Given the description of an element on the screen output the (x, y) to click on. 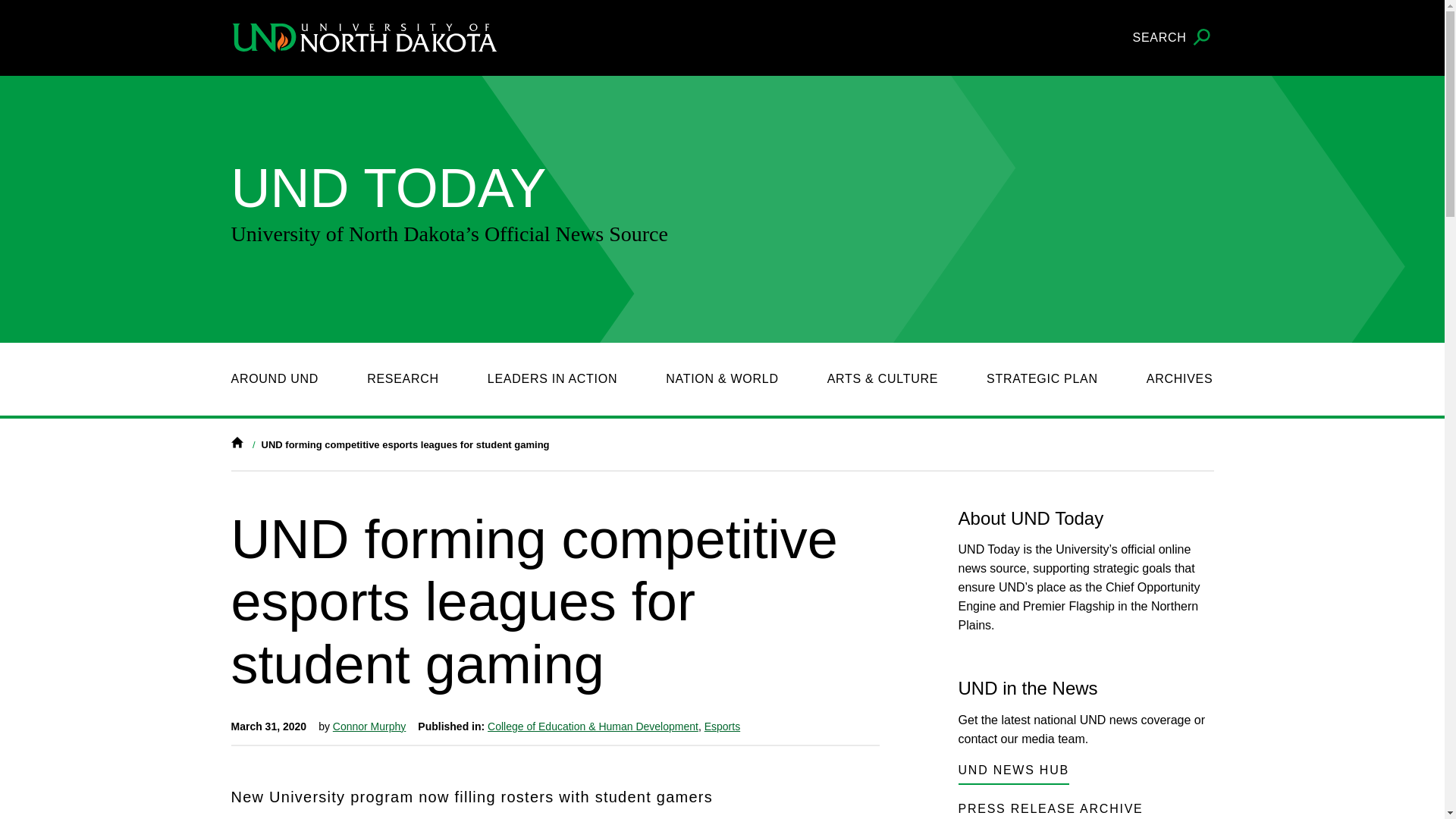
Connor Murphy (369, 726)
STRATEGIC PLAN (1042, 378)
UND NEWS HUB (1013, 772)
Esports (721, 726)
AROUND UND (274, 378)
RESEARCH (402, 378)
PRESS RELEASE ARCHIVE (1050, 809)
SEARCH (1173, 37)
ARCHIVES (1179, 378)
LEADERS IN ACTION (552, 378)
UND TODAY (388, 188)
